Given the description of an element on the screen output the (x, y) to click on. 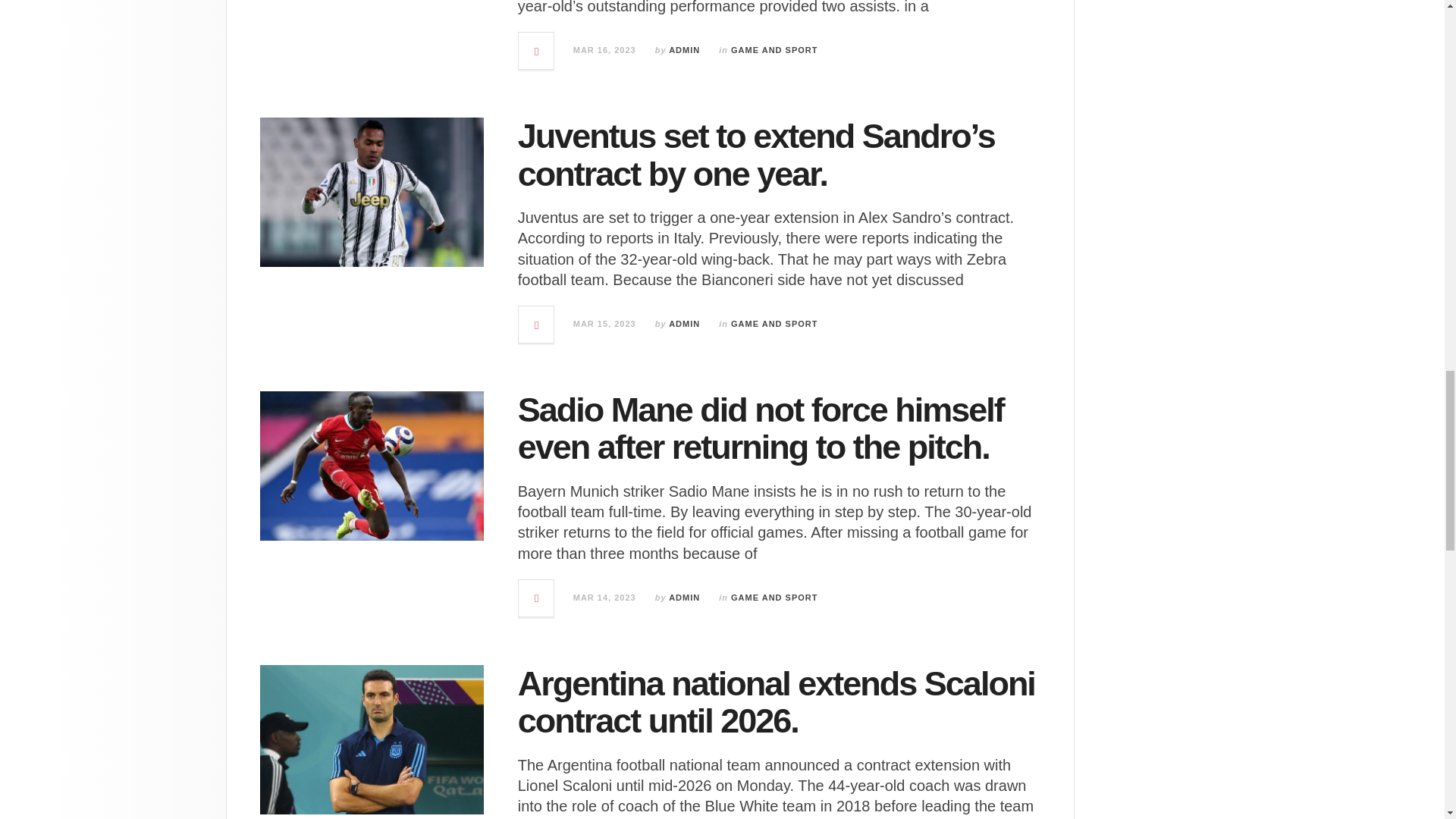
ADMIN (684, 49)
GAME AND SPORT (773, 49)
ADMIN (684, 323)
